Given the description of an element on the screen output the (x, y) to click on. 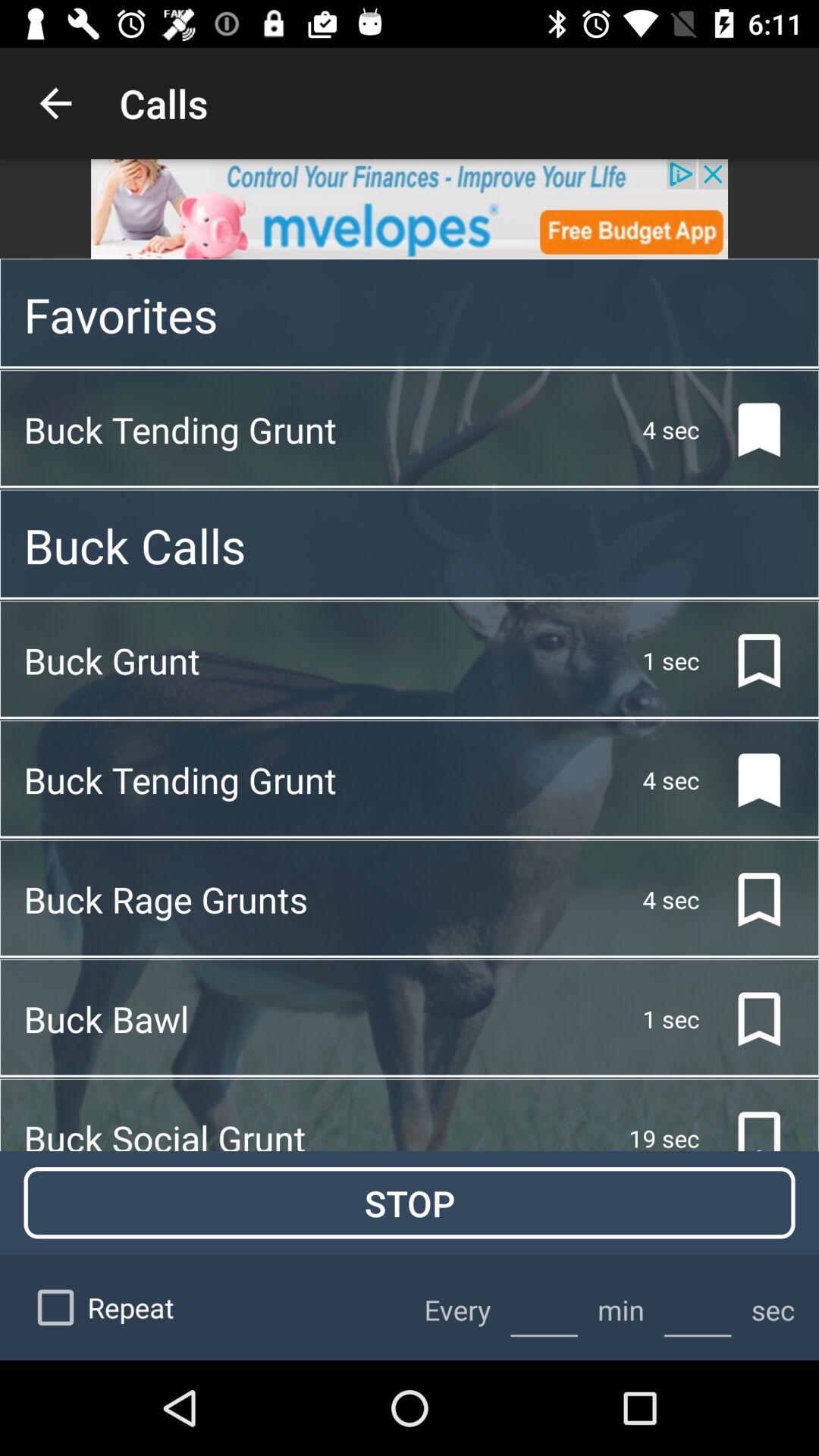
go to the advertisement (409, 208)
